Given the description of an element on the screen output the (x, y) to click on. 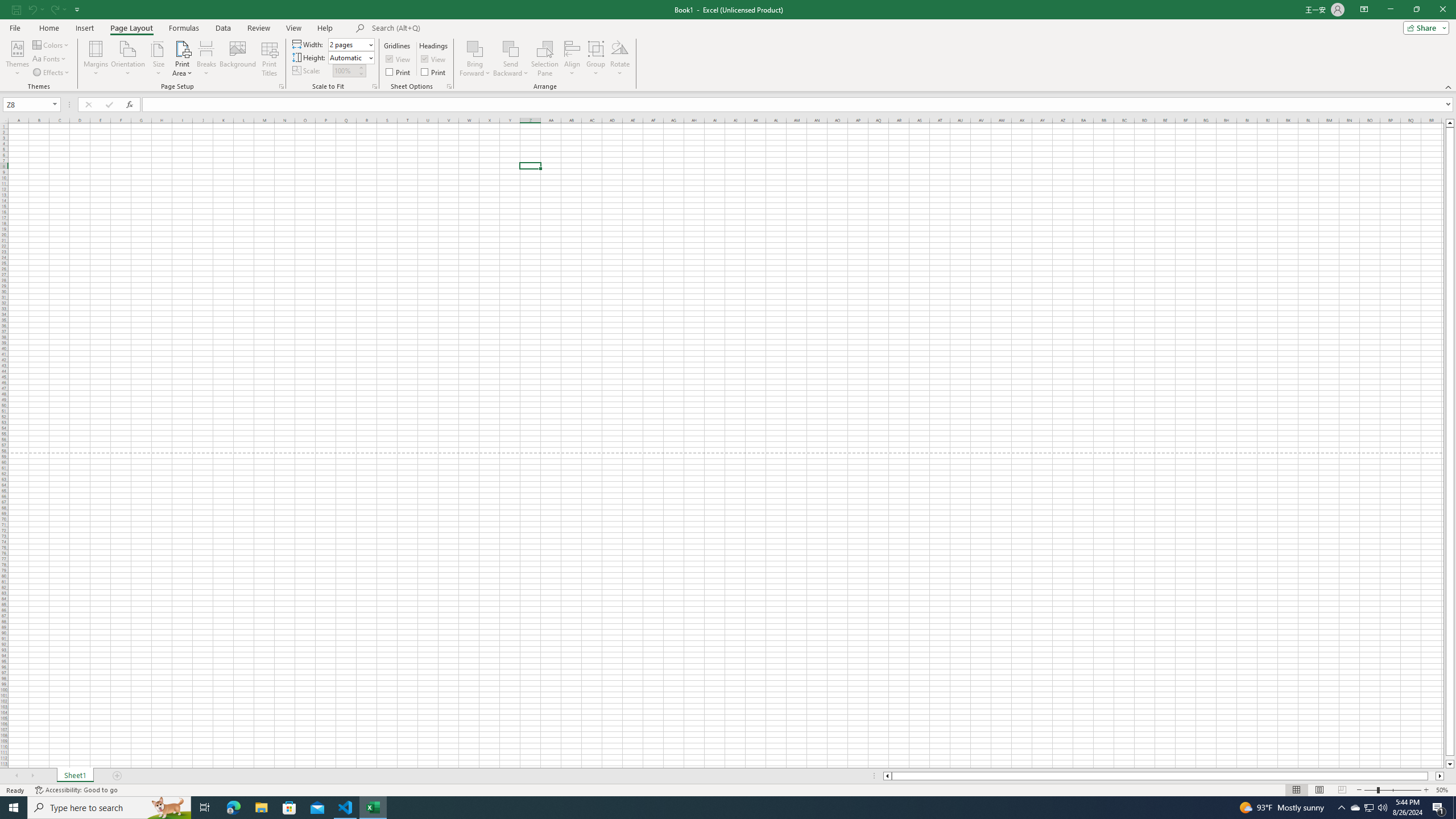
Rotate (619, 58)
Bring Forward (475, 48)
Send Backward (510, 58)
Print (434, 71)
Breaks (206, 58)
Align (571, 58)
Print Titles (269, 58)
